Given the description of an element on the screen output the (x, y) to click on. 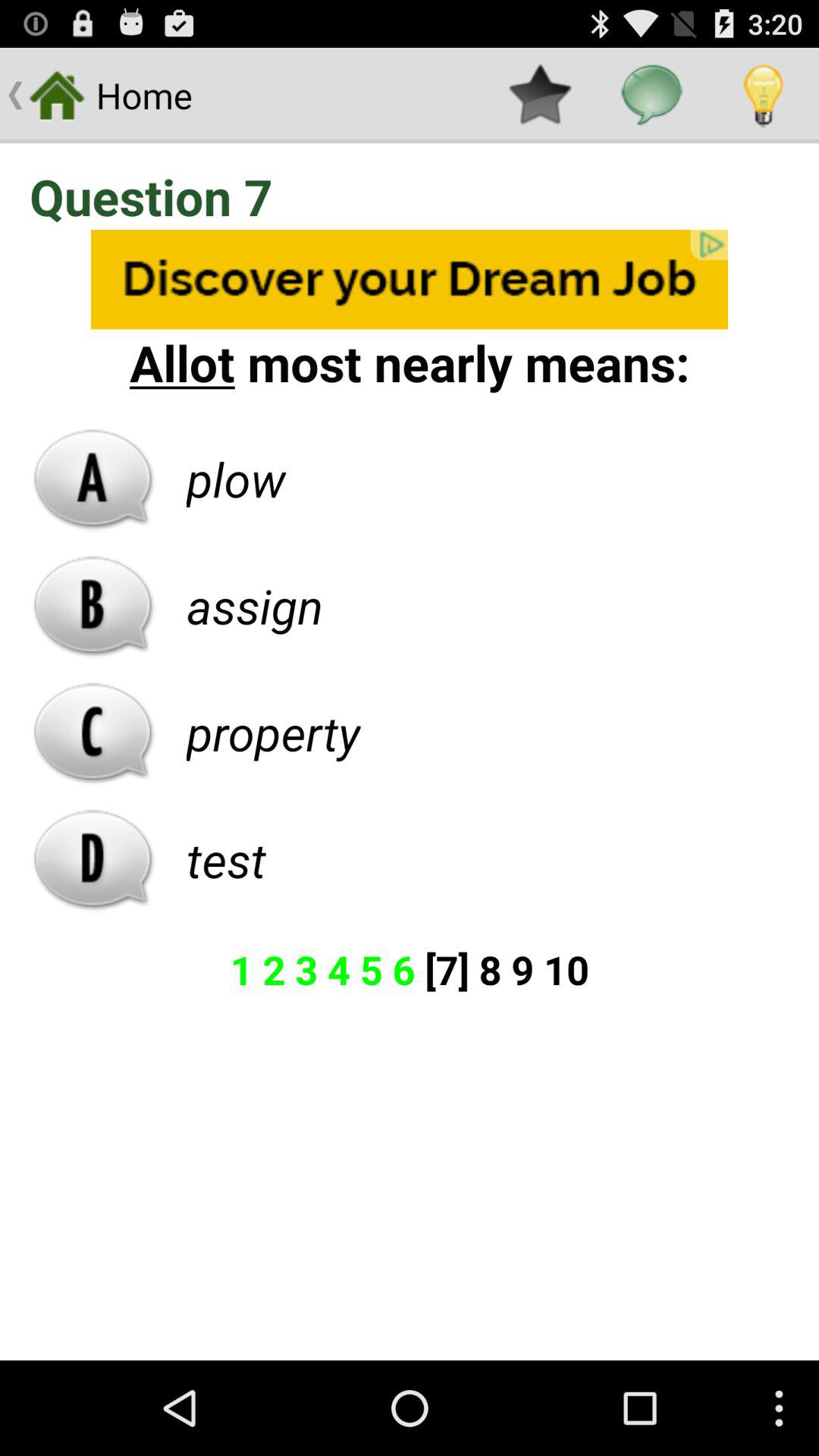
advertisement (409, 279)
